Given the description of an element on the screen output the (x, y) to click on. 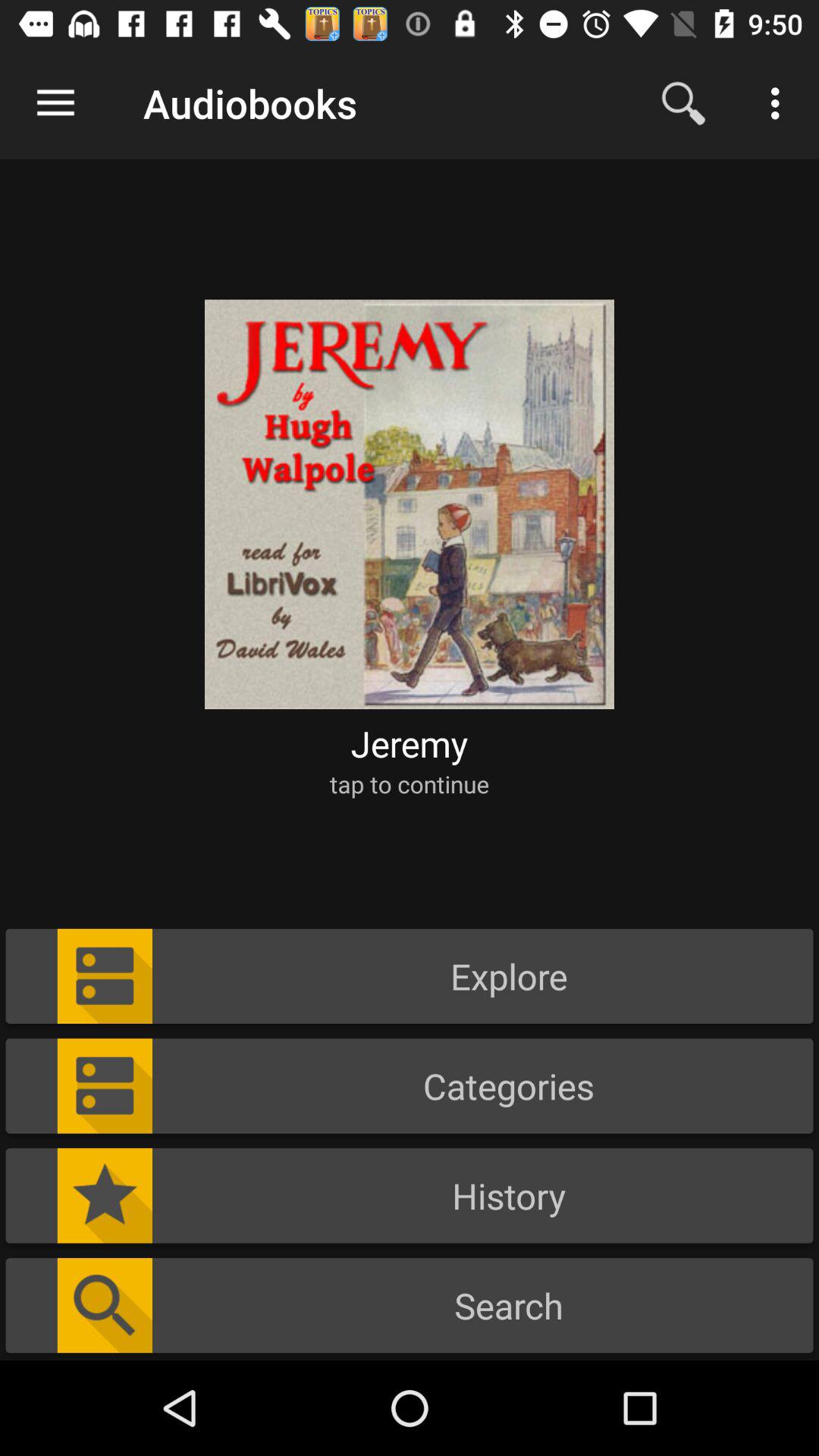
turn off item below the jeremy item (409, 783)
